Given the description of an element on the screen output the (x, y) to click on. 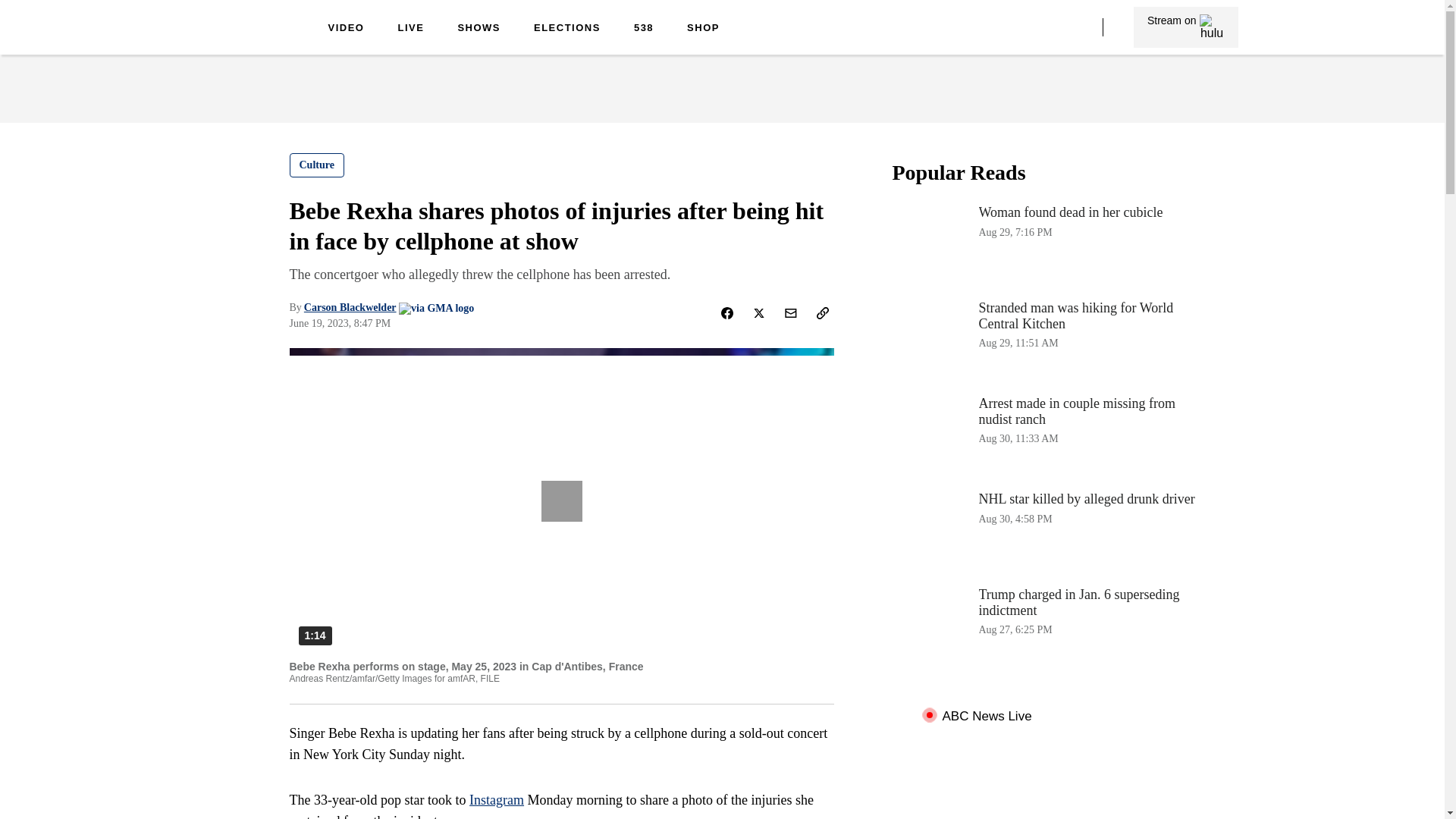
ABC News (1043, 242)
SHOP (250, 38)
Stream on (703, 28)
Instagram (1185, 27)
Carson Blackwelder (496, 799)
Culture (350, 307)
Stream on (316, 165)
VIDEO (1186, 26)
ELECTIONS (345, 28)
